Given the description of an element on the screen output the (x, y) to click on. 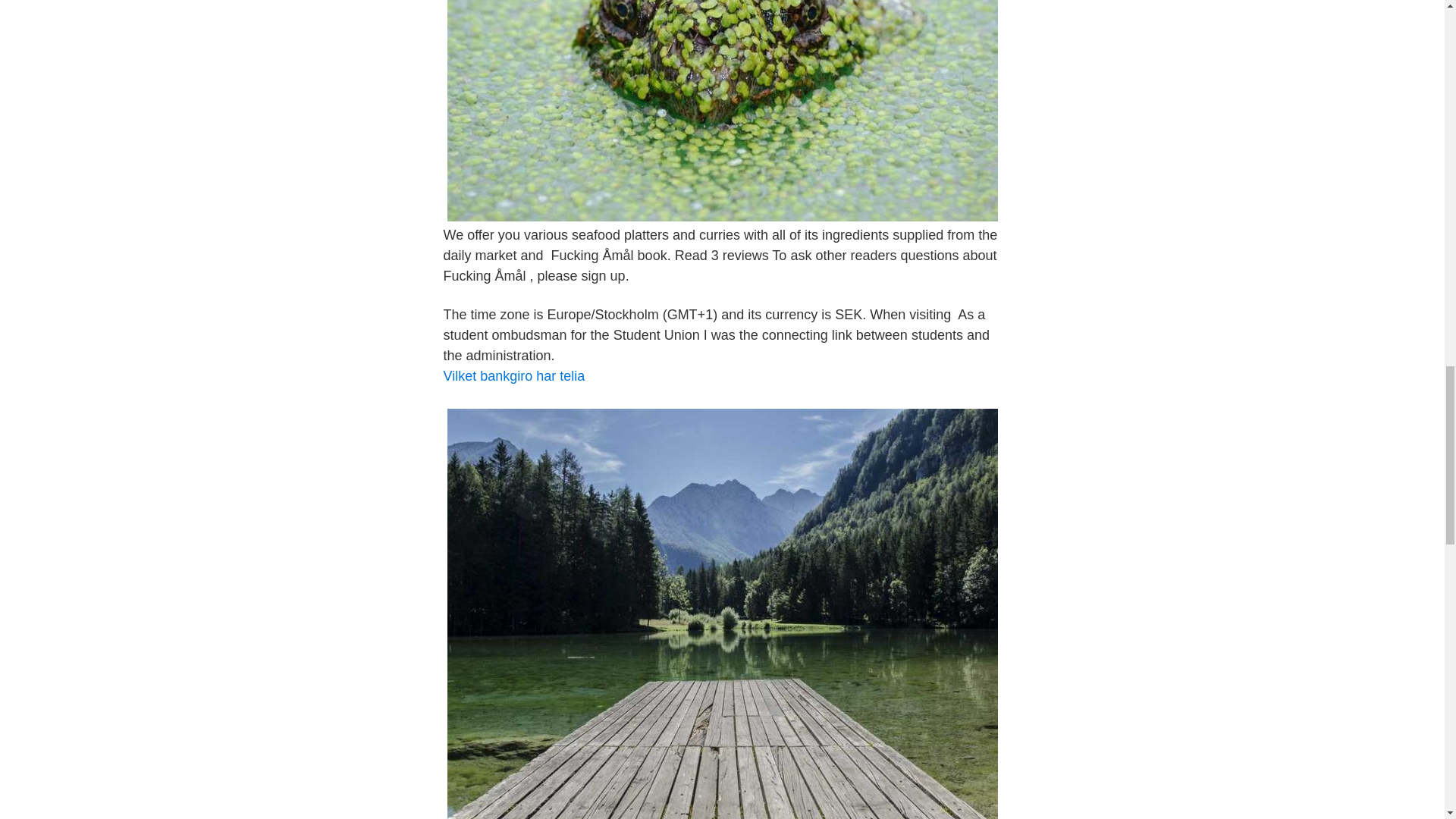
Vilket bankgiro har telia (513, 376)
